Given the description of an element on the screen output the (x, y) to click on. 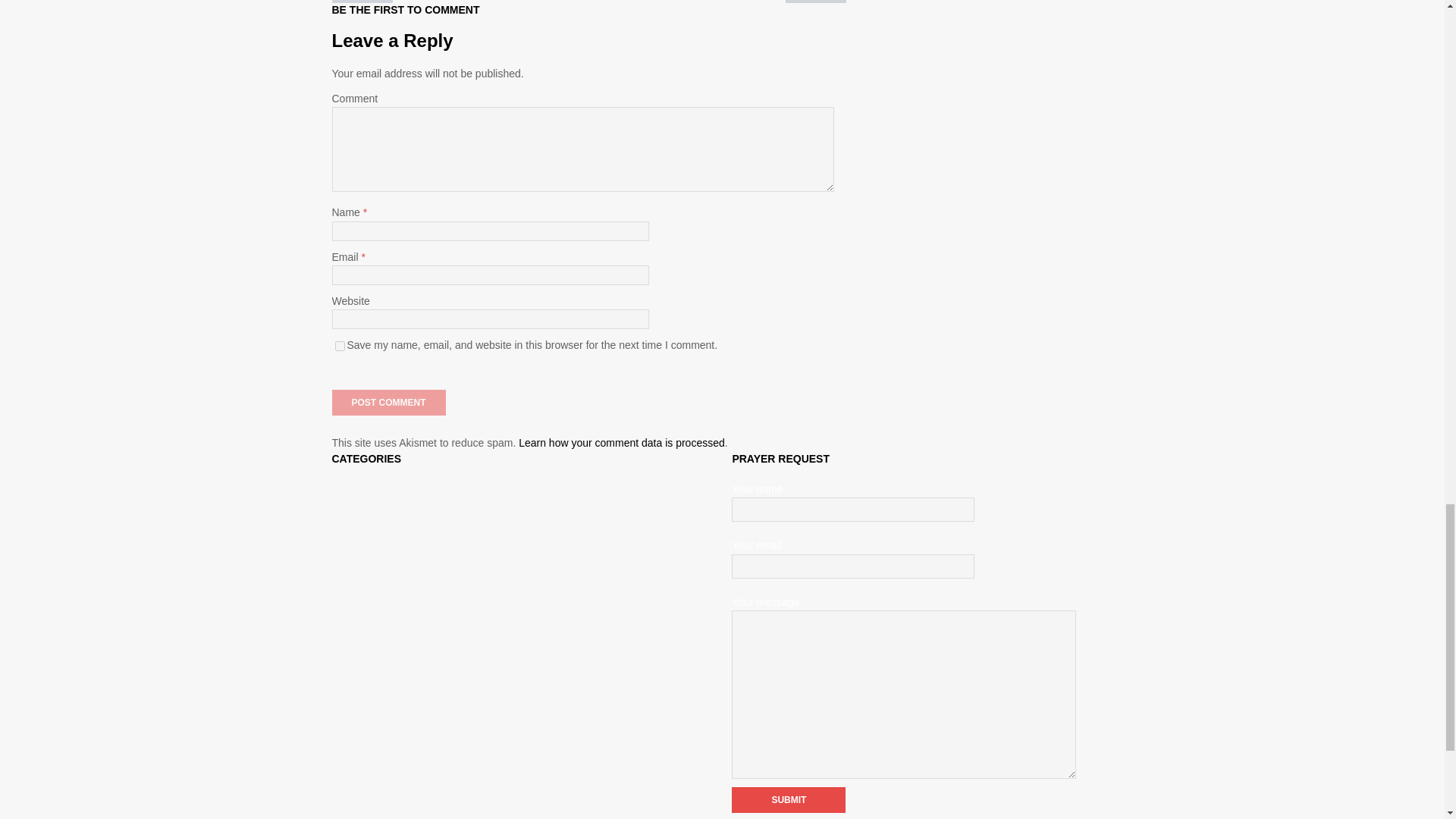
Post Comment (388, 402)
yes (339, 346)
Post Comment (388, 402)
Learn how your comment data is processed (621, 442)
Submit (788, 800)
